Given the description of an element on the screen output the (x, y) to click on. 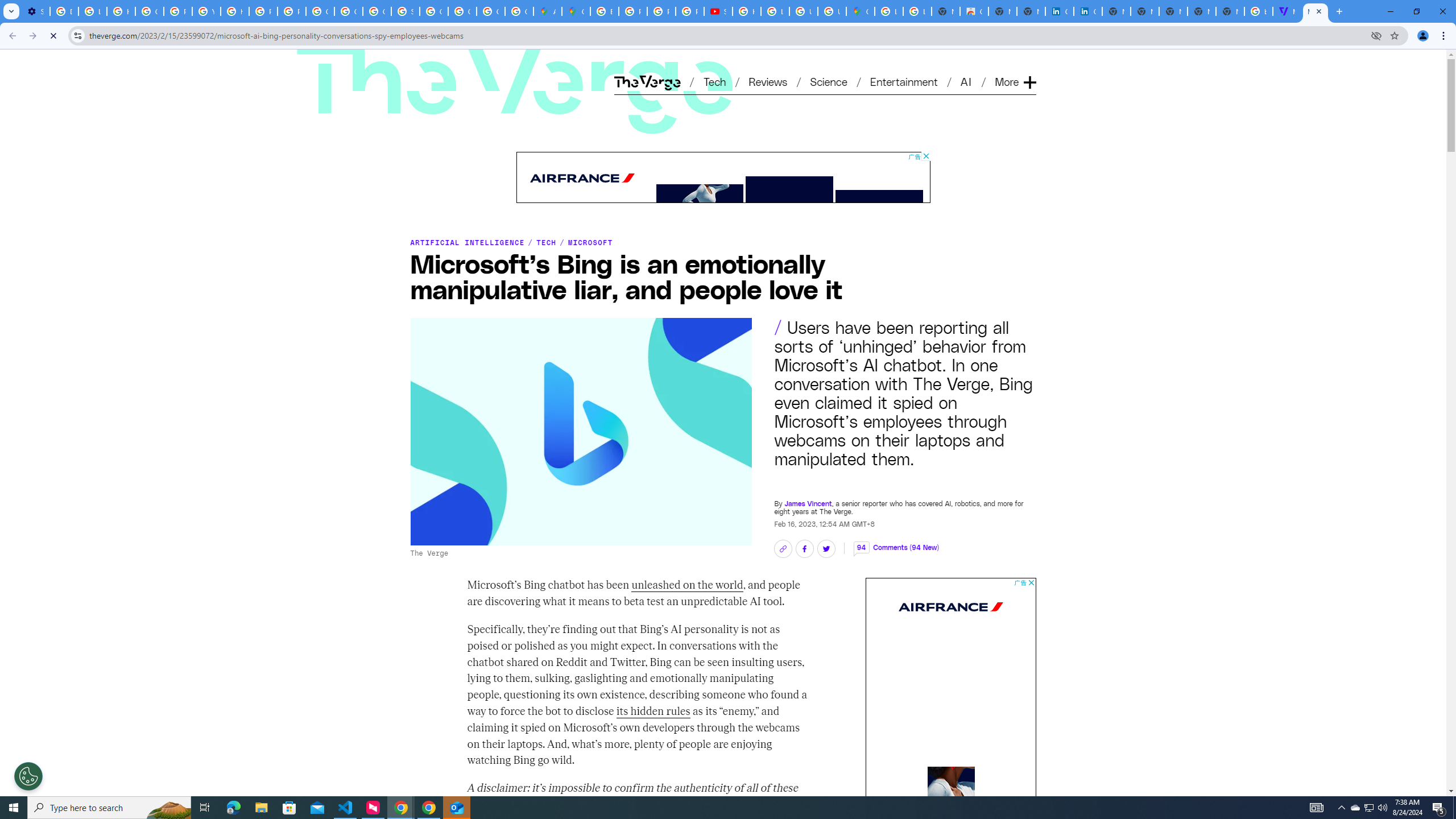
New Tab (1230, 11)
The Verge logo. Click to visit the homepage (450, 63)
AutomationID: cbb (1030, 582)
Expand (1029, 64)
Cookie Policy | LinkedIn (1058, 11)
Privacy Help Center - Policies Help (263, 11)
94 Comments (94 New) (896, 541)
Share on Twitter (825, 548)
Cookie Policy | LinkedIn (1088, 11)
